Given the description of an element on the screen output the (x, y) to click on. 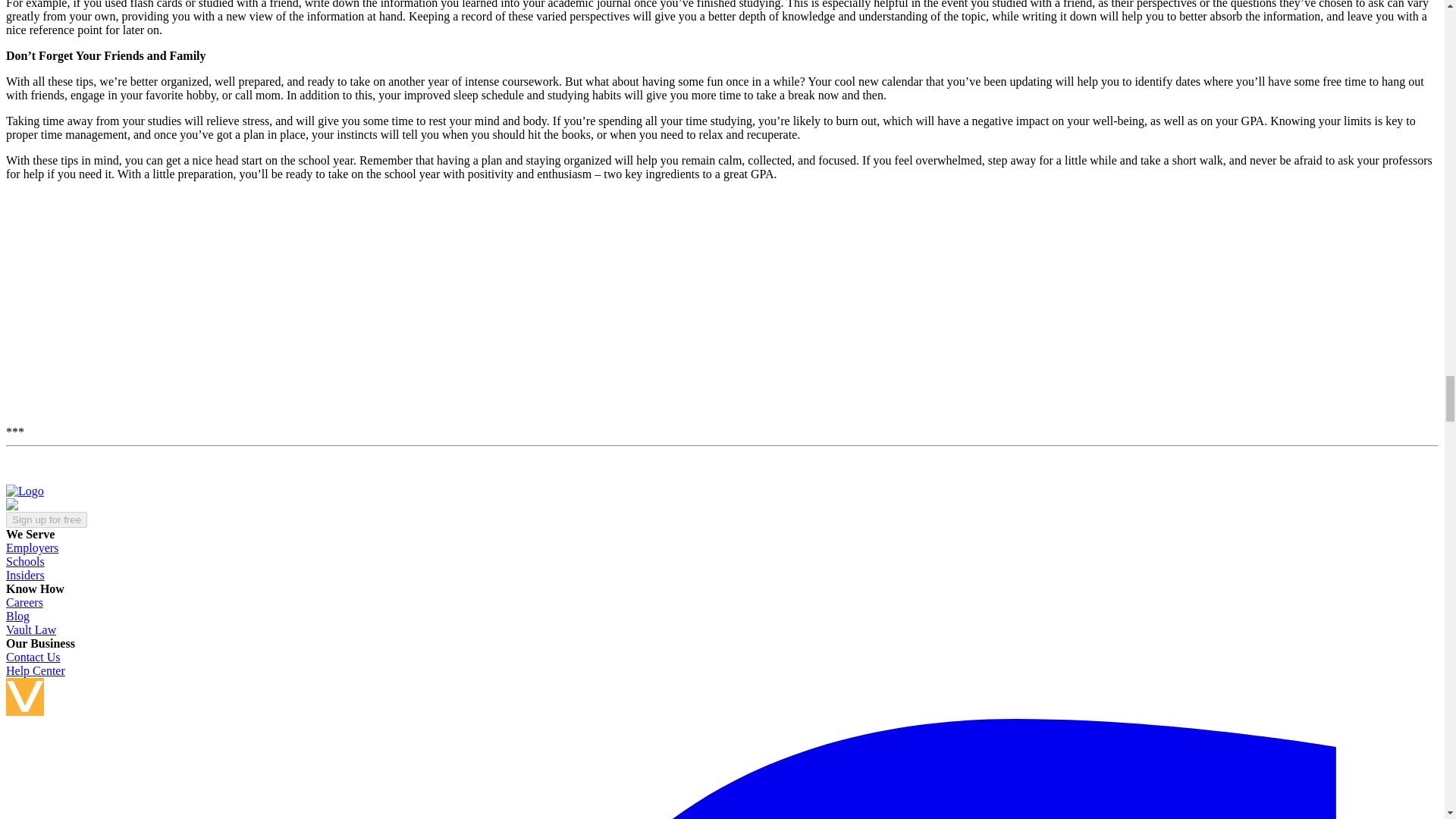
Help Center (35, 670)
Employers (31, 547)
Sign up for free (46, 519)
Insiders (25, 574)
Contact Us (33, 656)
Blog (17, 615)
Vault Law (30, 629)
Sign up for free (46, 518)
Careers (24, 602)
Schools (25, 561)
